Given the description of an element on the screen output the (x, y) to click on. 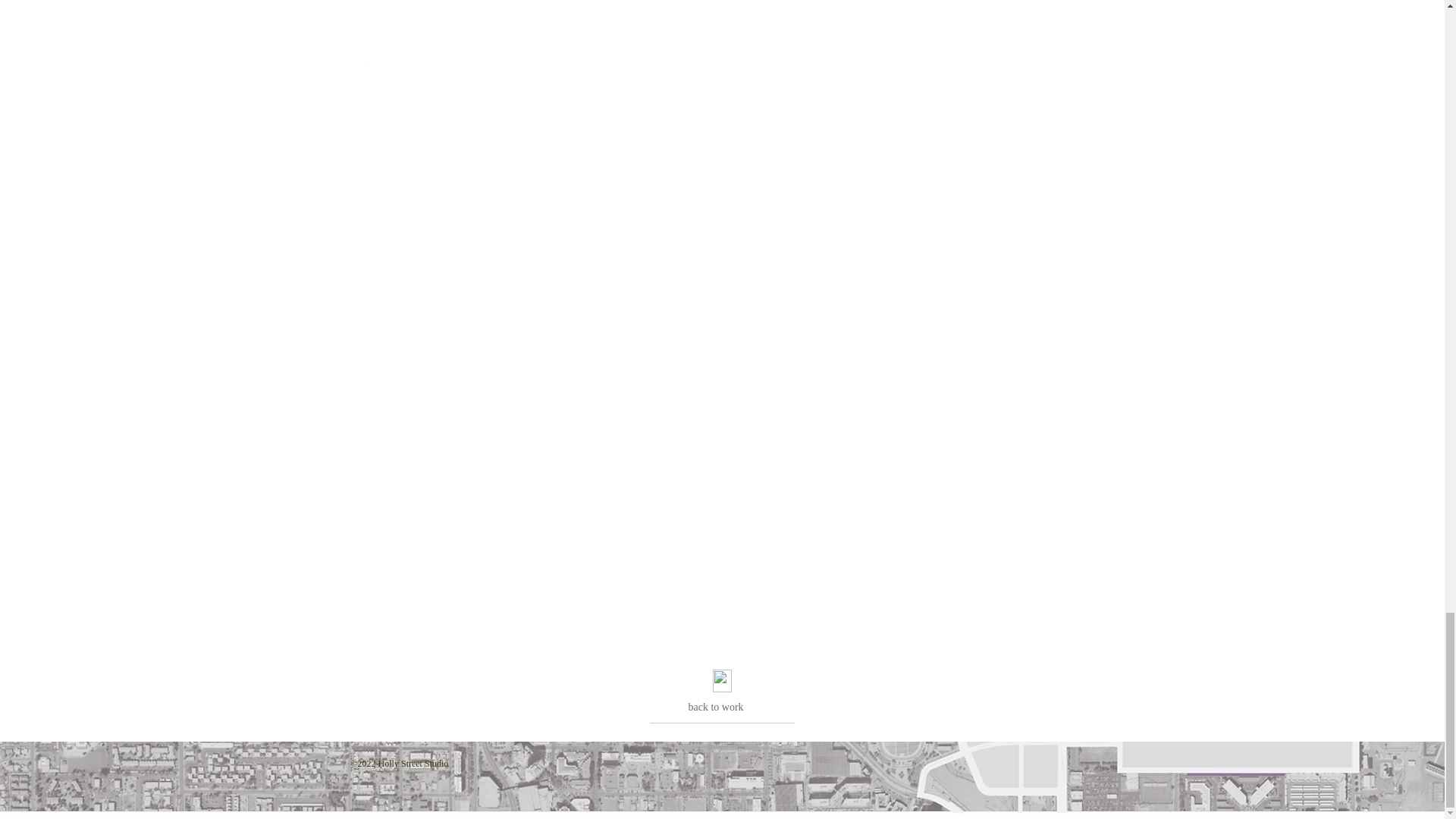
back to work (716, 706)
